Given the description of an element on the screen output the (x, y) to click on. 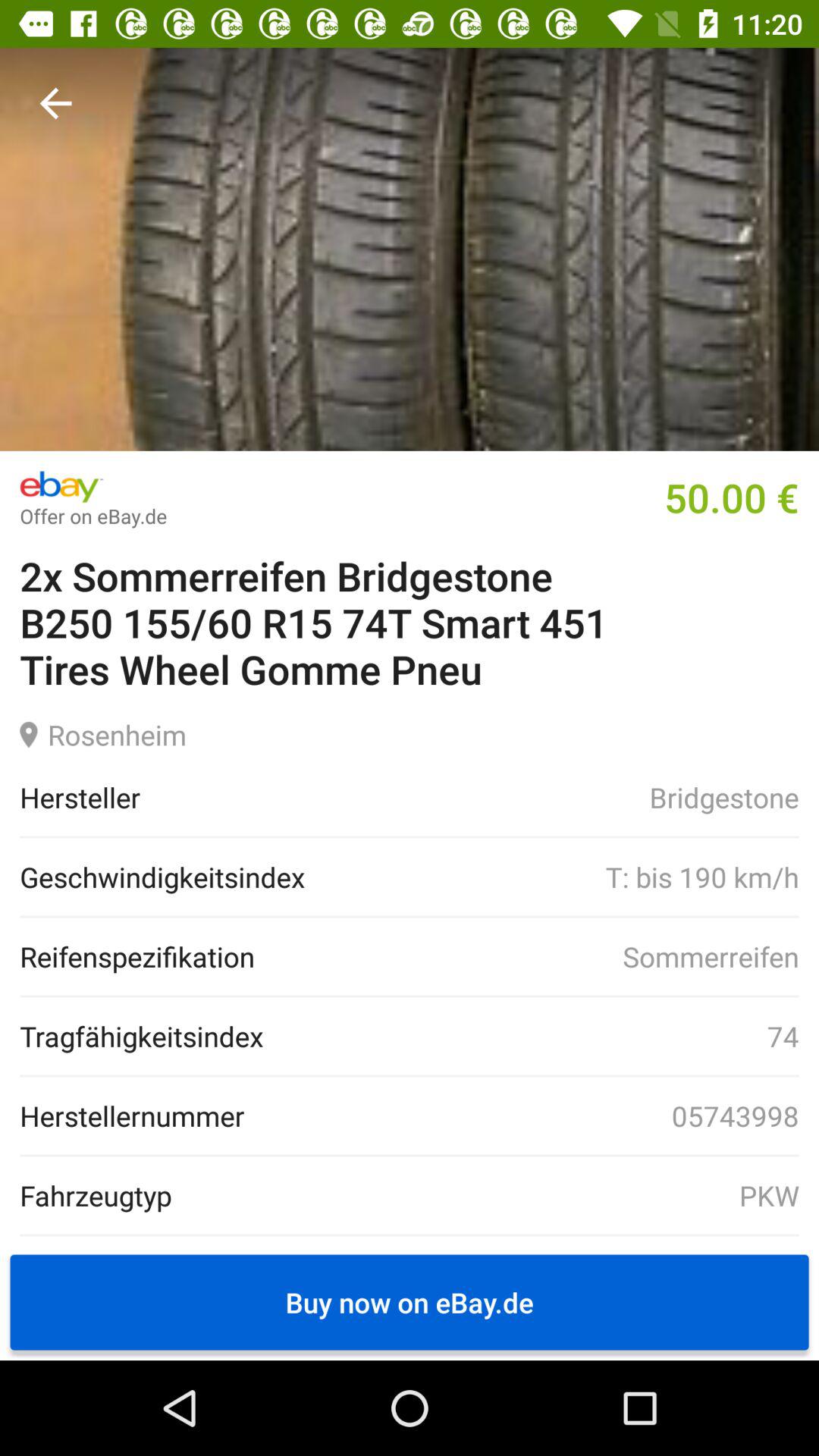
click item to the right of the geschwindigkeitsindex (551, 876)
